Given the description of an element on the screen output the (x, y) to click on. 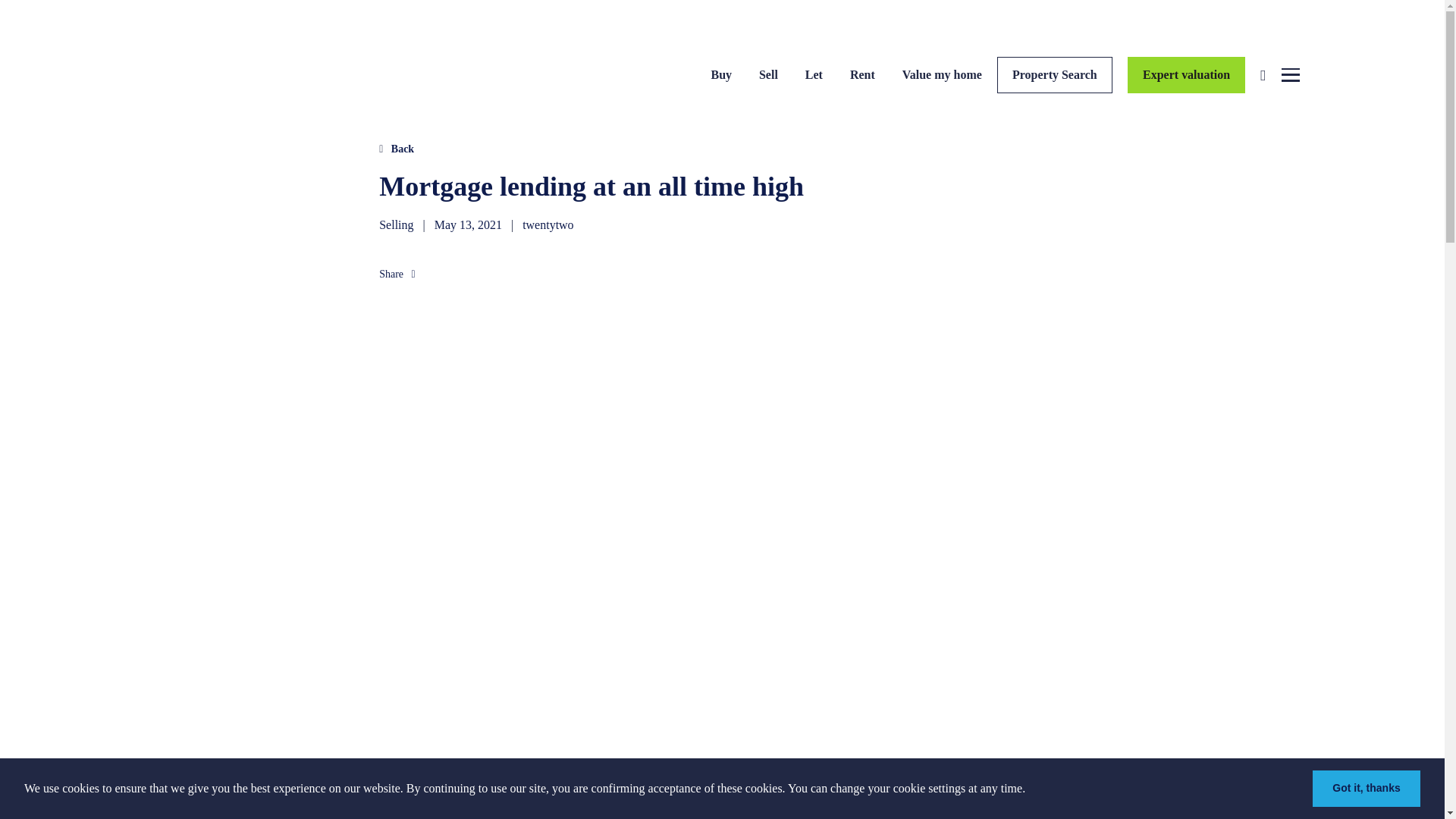
Value my home (941, 72)
  Back (395, 148)
Property Search (1054, 74)
Got it, thanks (1367, 788)
Expert valuation (1185, 74)
Rent (862, 72)
